Given the description of an element on the screen output the (x, y) to click on. 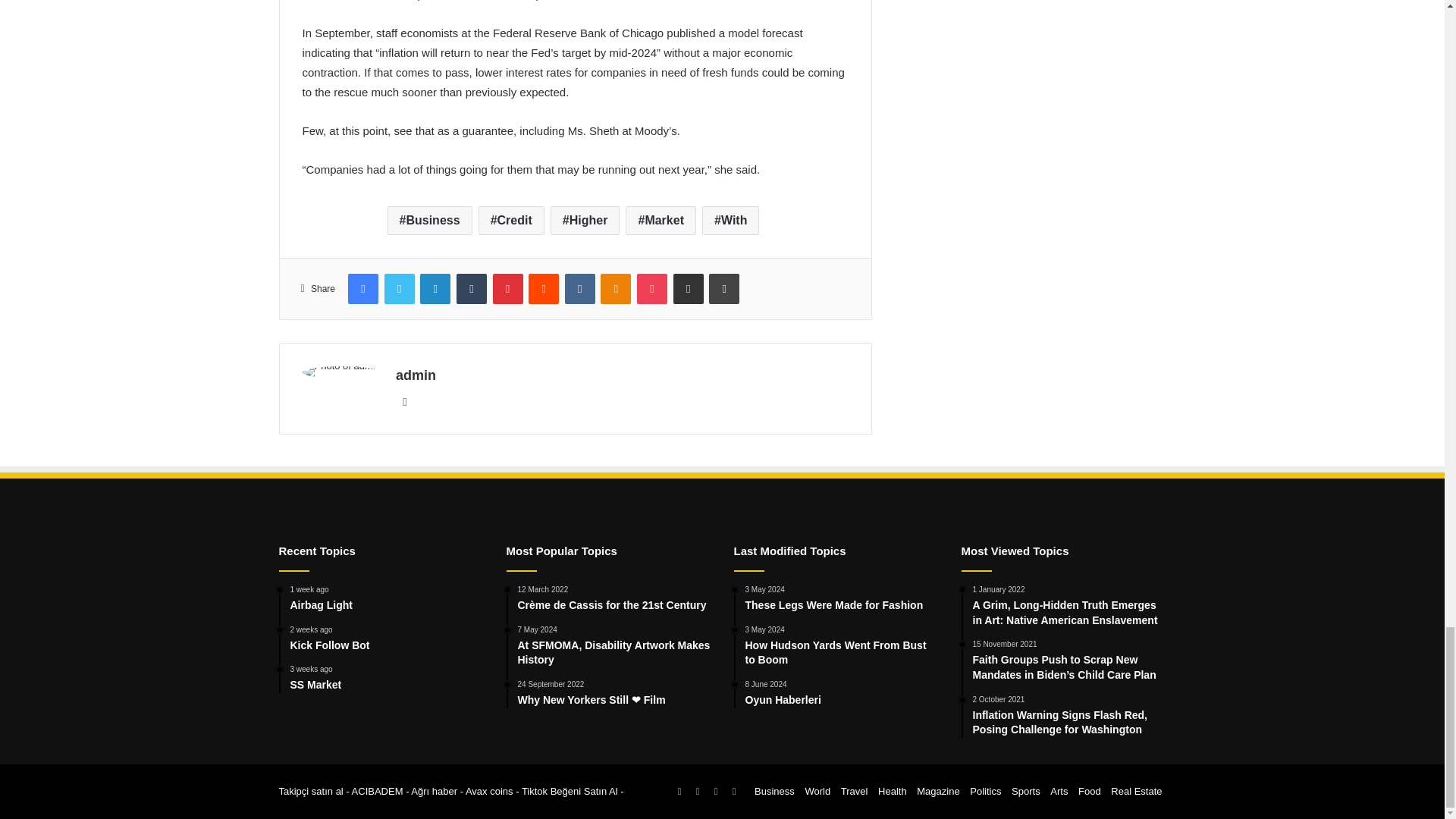
Business (429, 220)
